Given the description of an element on the screen output the (x, y) to click on. 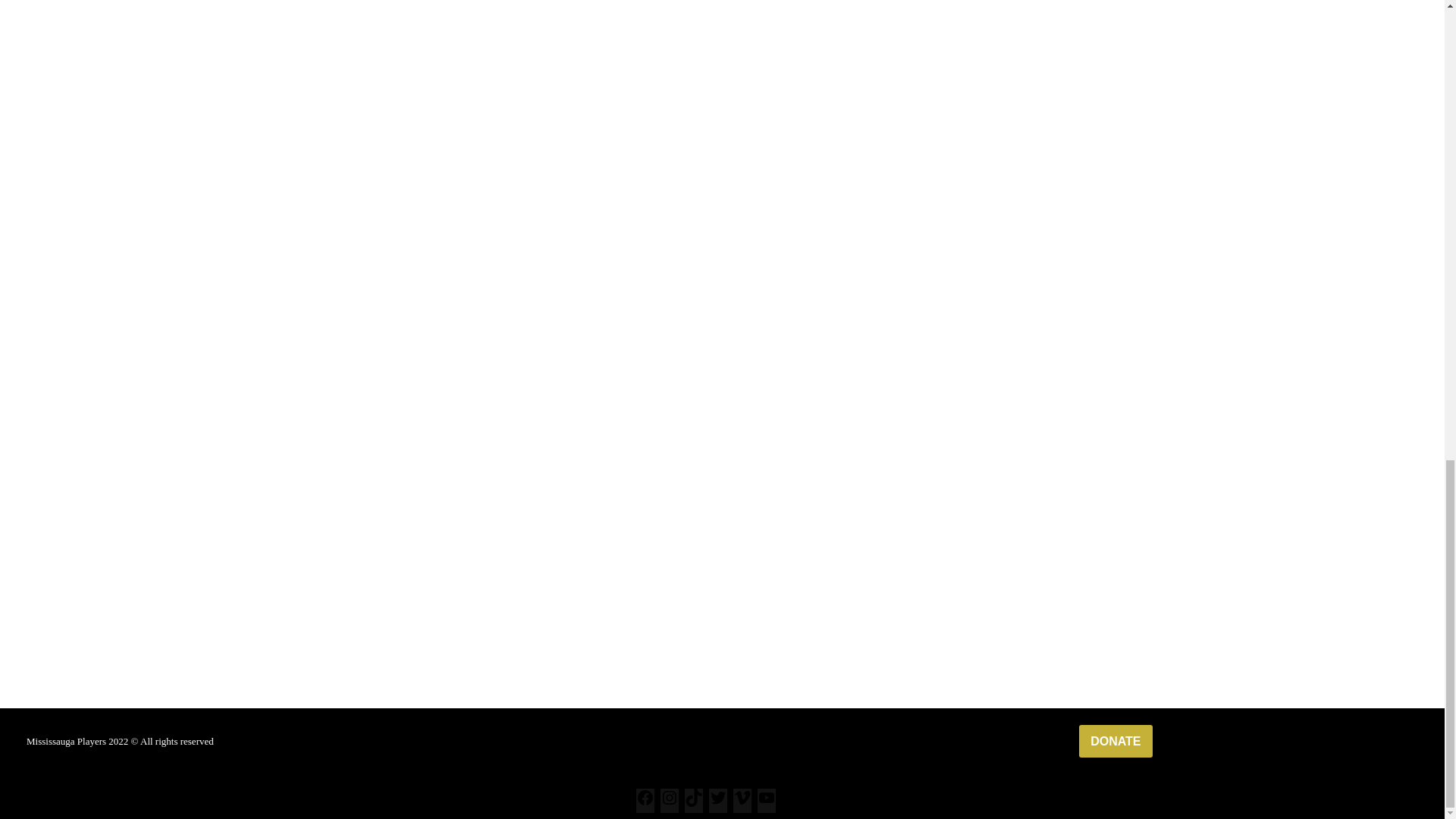
Neve (24, 775)
DONATE (1114, 740)
WordPress (132, 775)
